Given the description of an element on the screen output the (x, y) to click on. 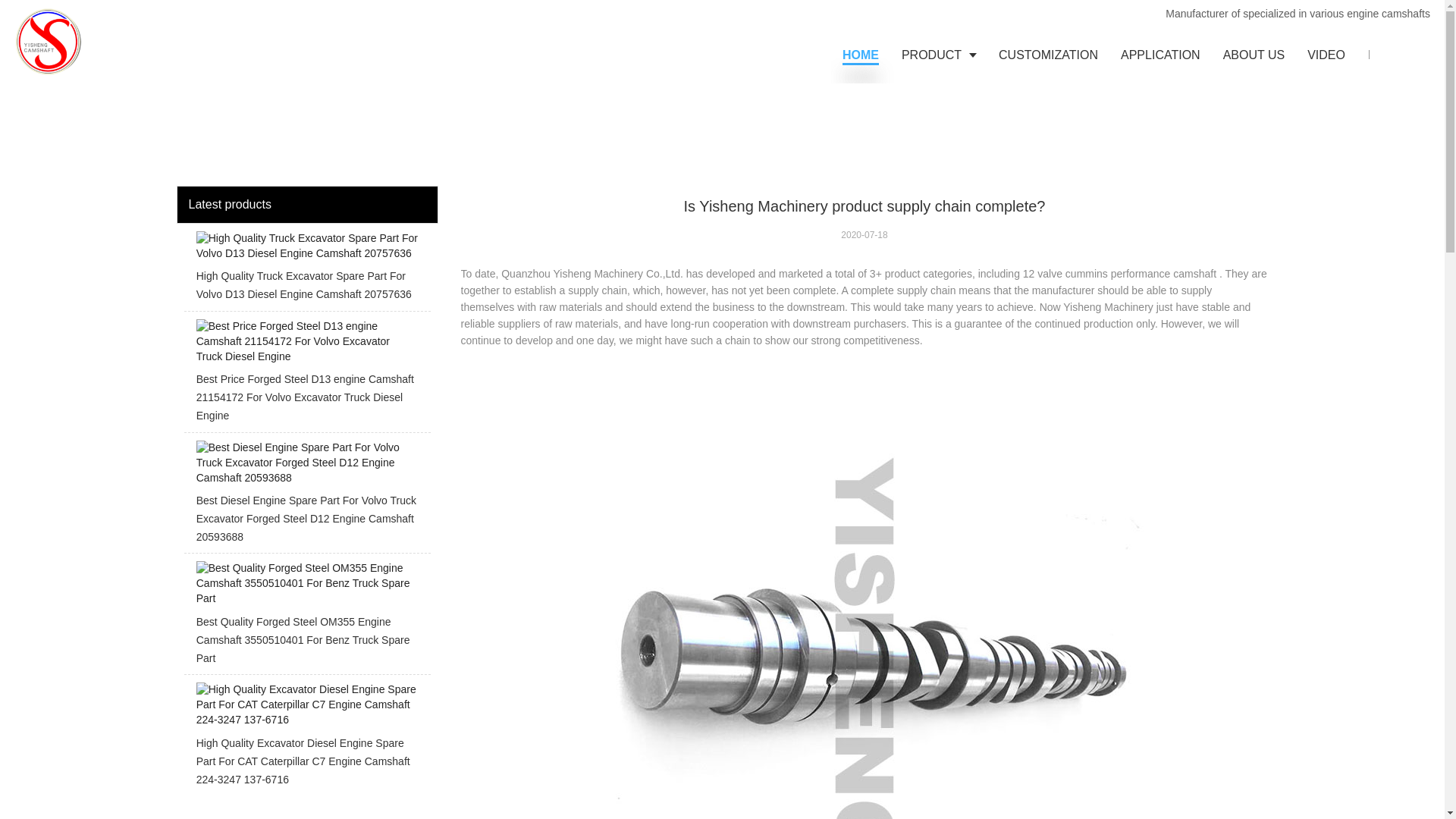
ABOUT US (1254, 55)
CUSTOMIZATION (1048, 55)
APPLICATION (1160, 55)
PRODUCT (938, 55)
HOME (860, 55)
VIDEO (1325, 55)
